Given the description of an element on the screen output the (x, y) to click on. 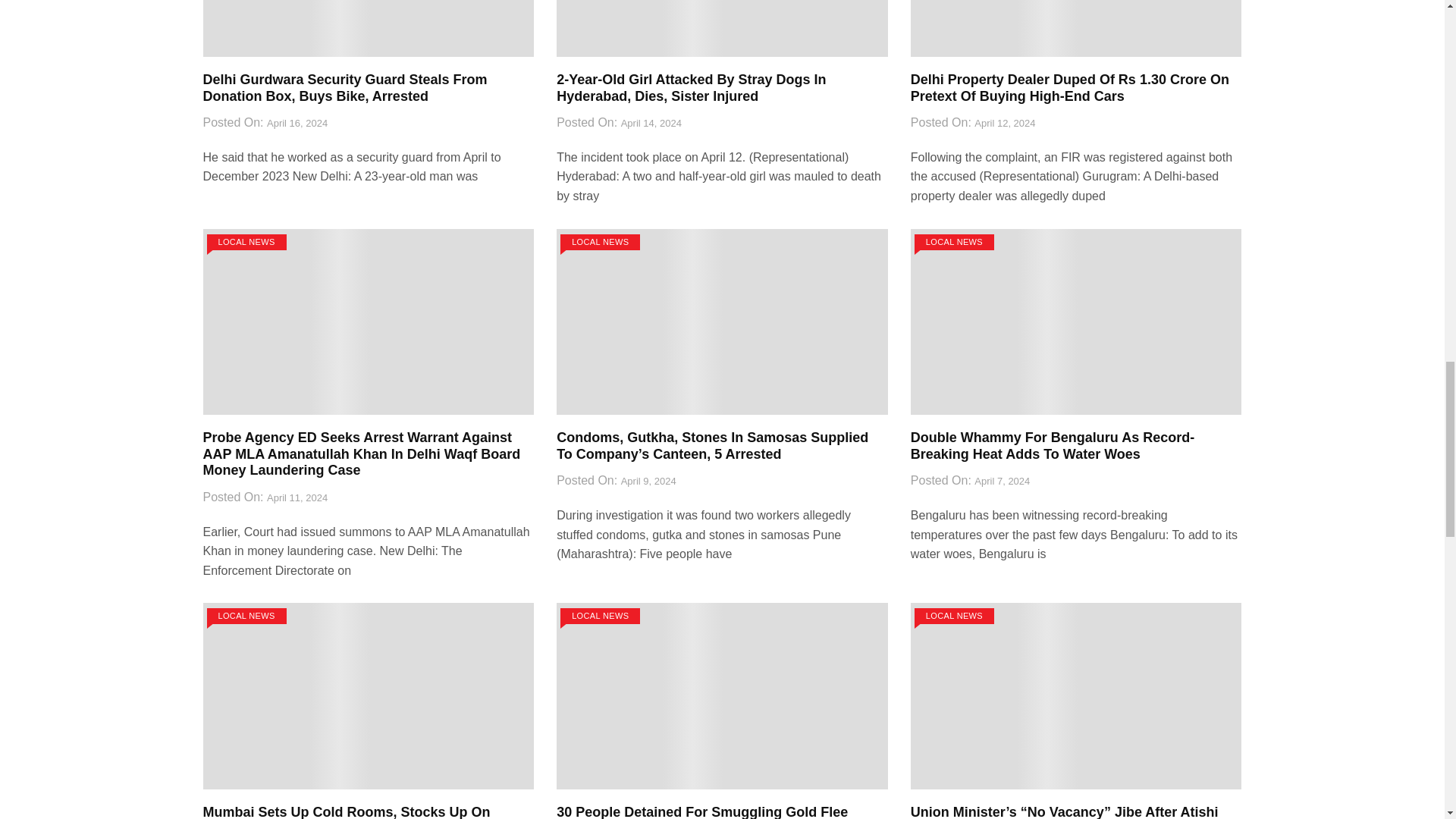
April 16, 2024 (296, 123)
April 14, 2024 (651, 123)
LOCAL NEWS (245, 242)
April 12, 2024 (1004, 123)
